Given the description of an element on the screen output the (x, y) to click on. 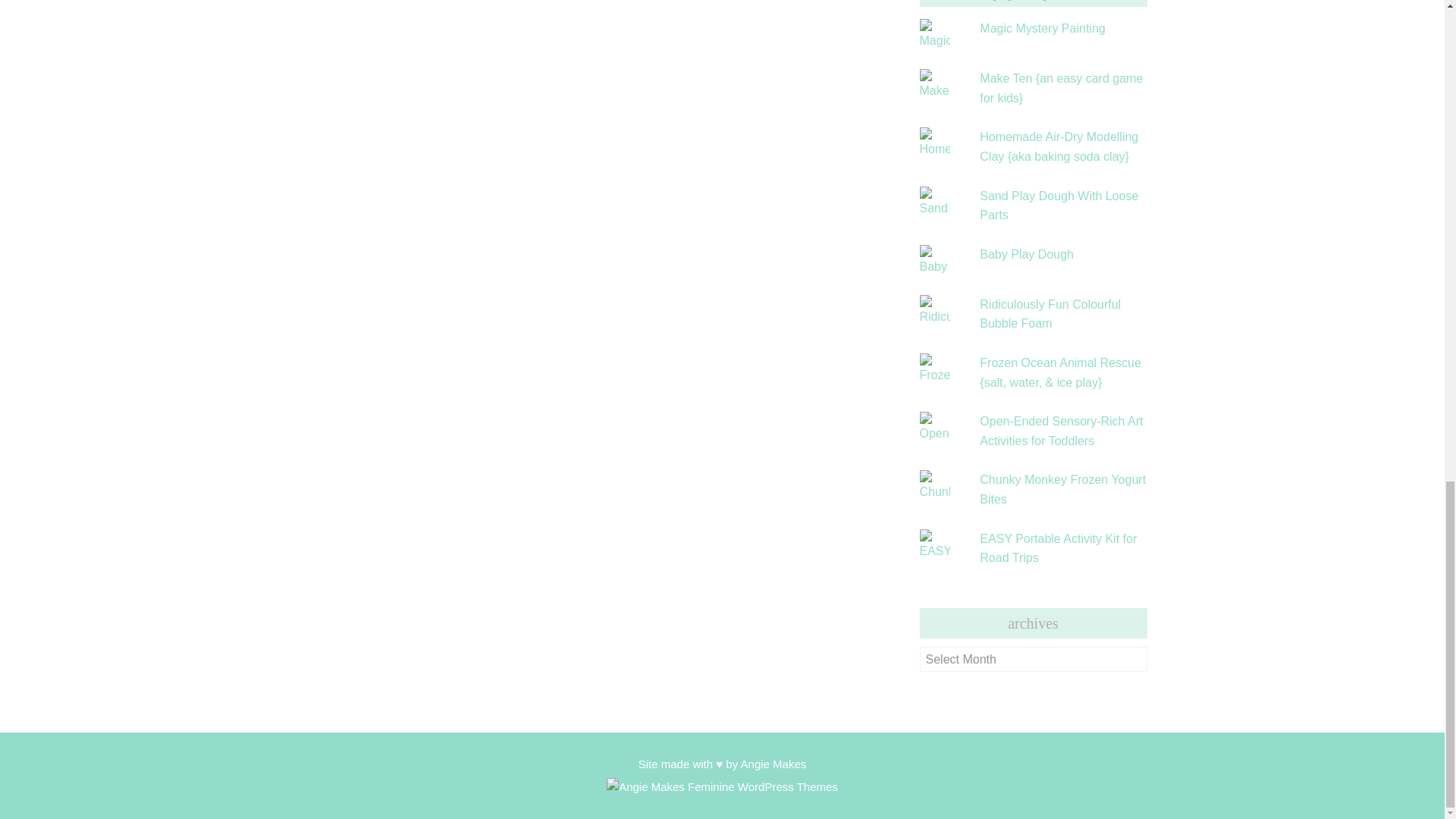
Sand Play Dough With Loose Parts (1058, 205)
Ridiculously Fun Colourful Bubble Foam (1050, 314)
Baby Play Dough (1026, 254)
Baby Play Dough (1026, 254)
Sand Play Dough With Loose Parts (1058, 205)
Ridiculously Fun Colourful Bubble Foam (1050, 314)
Magic Mystery Painting (1042, 28)
Magic Mystery Painting (1042, 28)
